Given the description of an element on the screen output the (x, y) to click on. 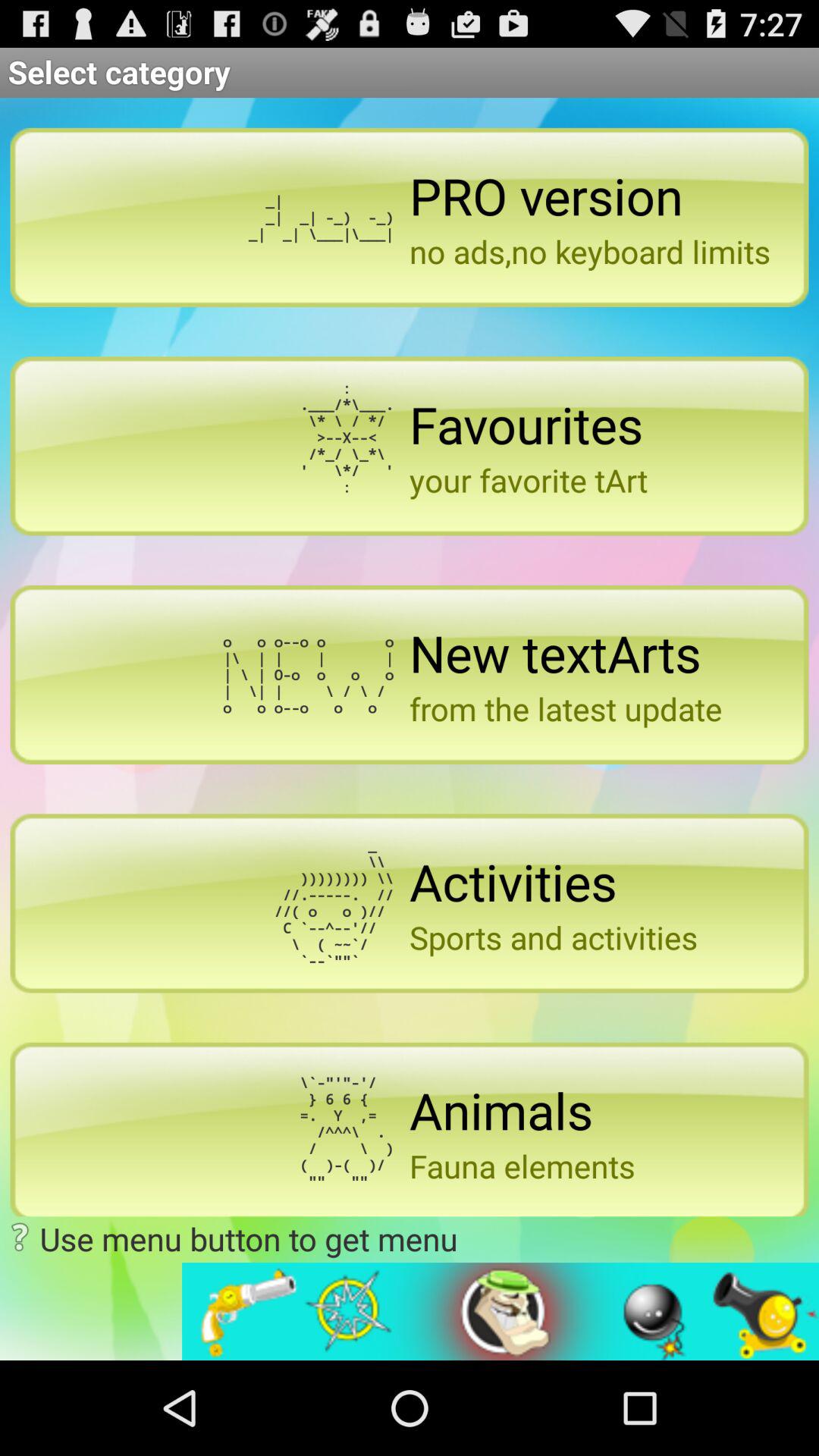
open advertisement (500, 1311)
